Given the description of an element on the screen output the (x, y) to click on. 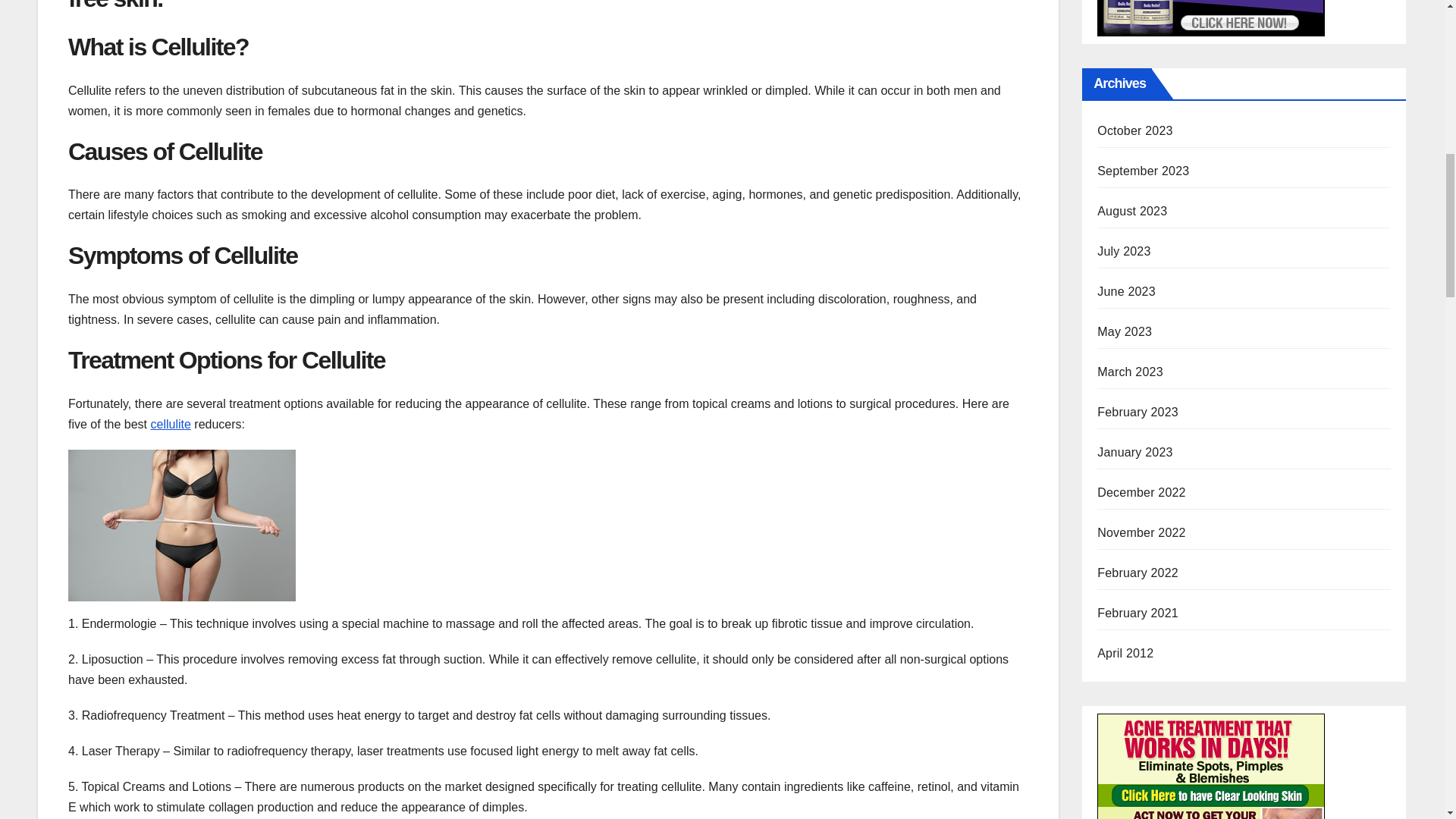
cellulite (170, 423)
